Given the description of an element on the screen output the (x, y) to click on. 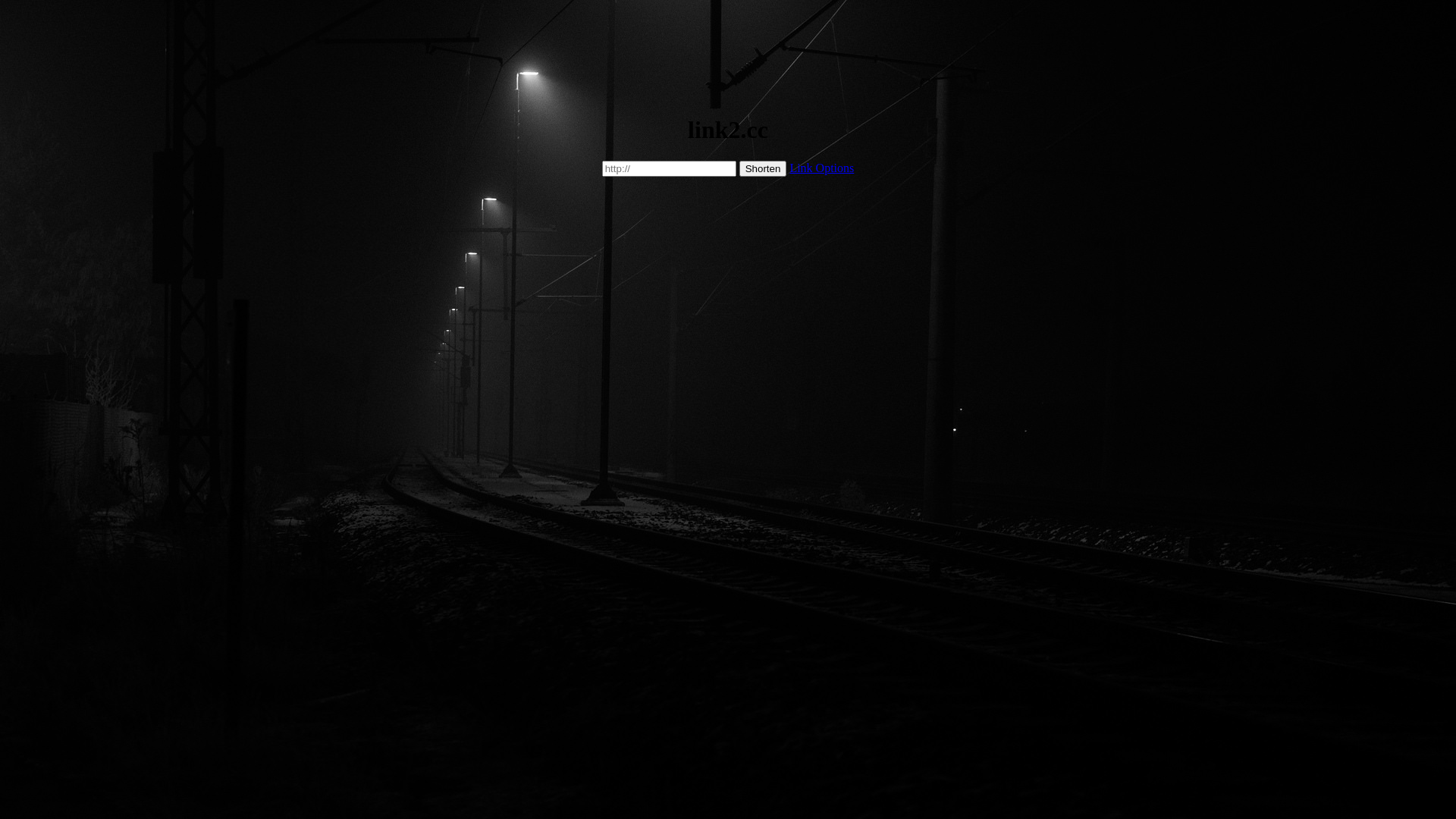
Shorten Element type: text (763, 168)
Link Options Element type: text (821, 167)
